Given the description of an element on the screen output the (x, y) to click on. 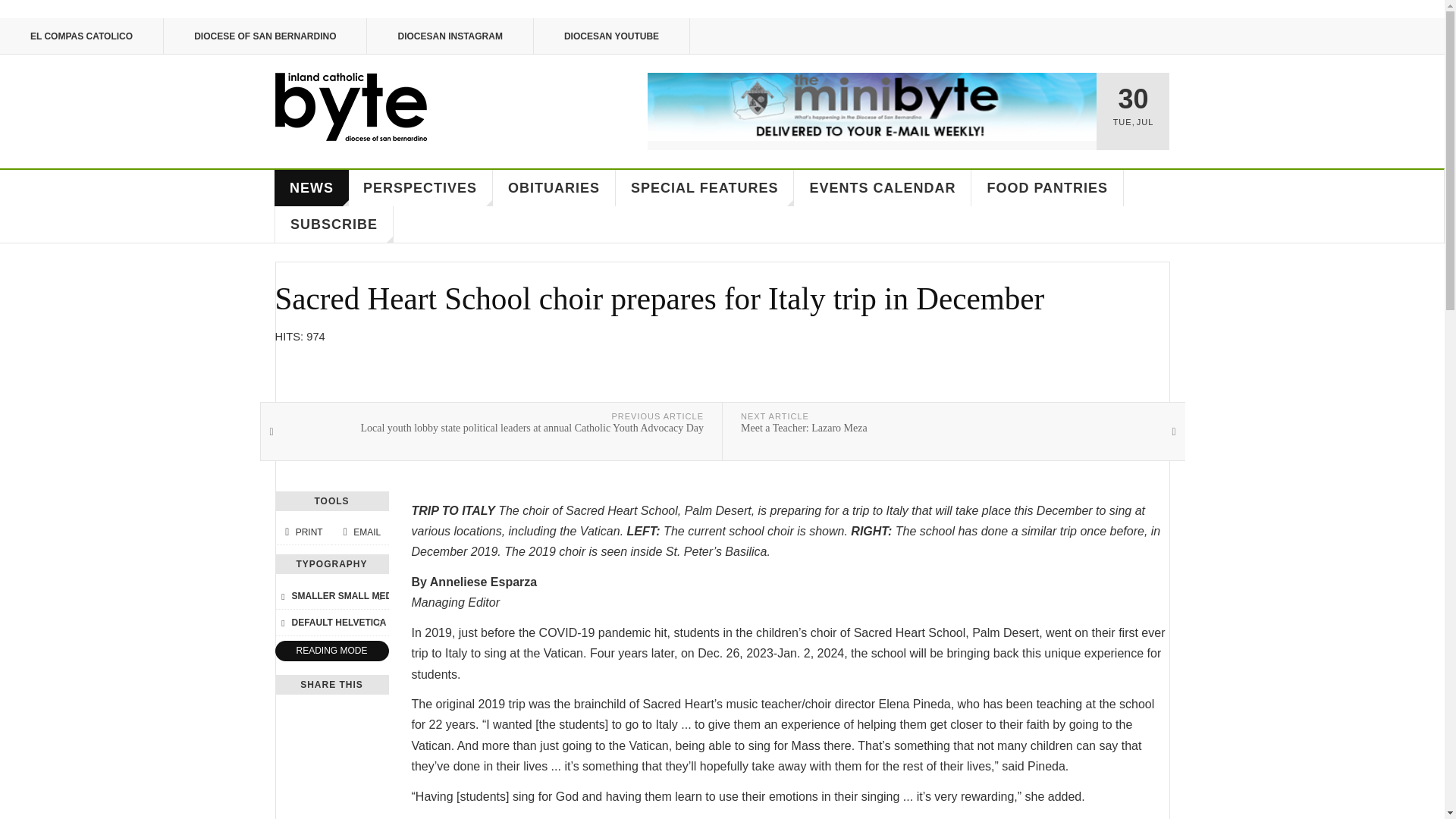
DIOCESAN INSTAGRAM (449, 36)
Next Font Style (379, 622)
Bigger Font (379, 596)
DIOCESAN YOUTUBE (612, 36)
DIOCESE OF SAN BERNARDINO (264, 36)
Print (302, 532)
PERSPECTIVES (420, 187)
Inland Catholic Byte (350, 106)
Reading Mode (331, 650)
Previous Font Style (283, 622)
miniBYTE (871, 106)
EL COMPAS CATOLICO (81, 36)
Email (359, 532)
NEWS (312, 187)
